Given the description of an element on the screen output the (x, y) to click on. 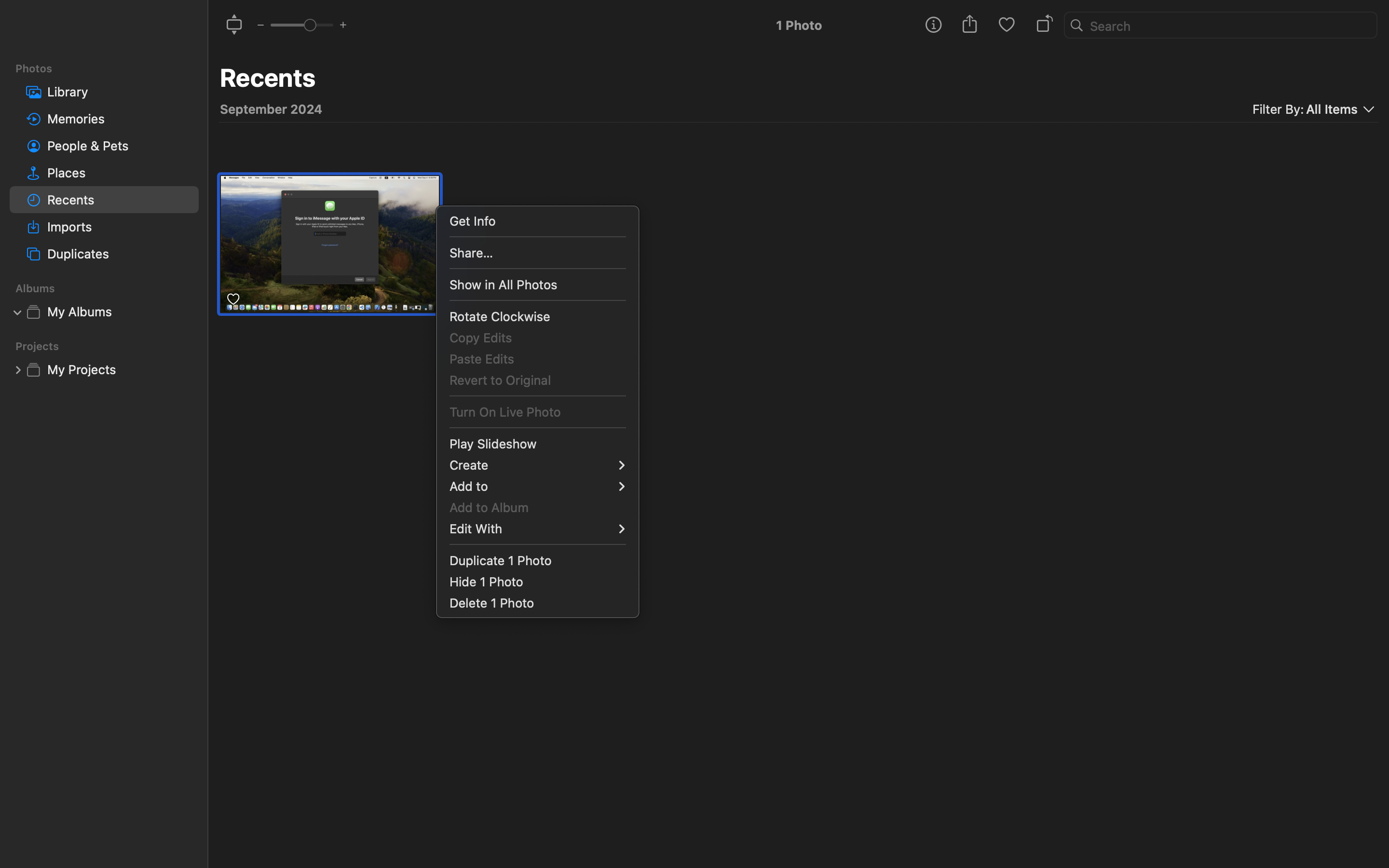
Library Element type: AXStaticText (118, 91)
Recents Element type: AXStaticText (267, 77)
2.0 Element type: AXSlider (301, 24)
Albums Element type: AXStaticText (109, 288)
